Given the description of an element on the screen output the (x, y) to click on. 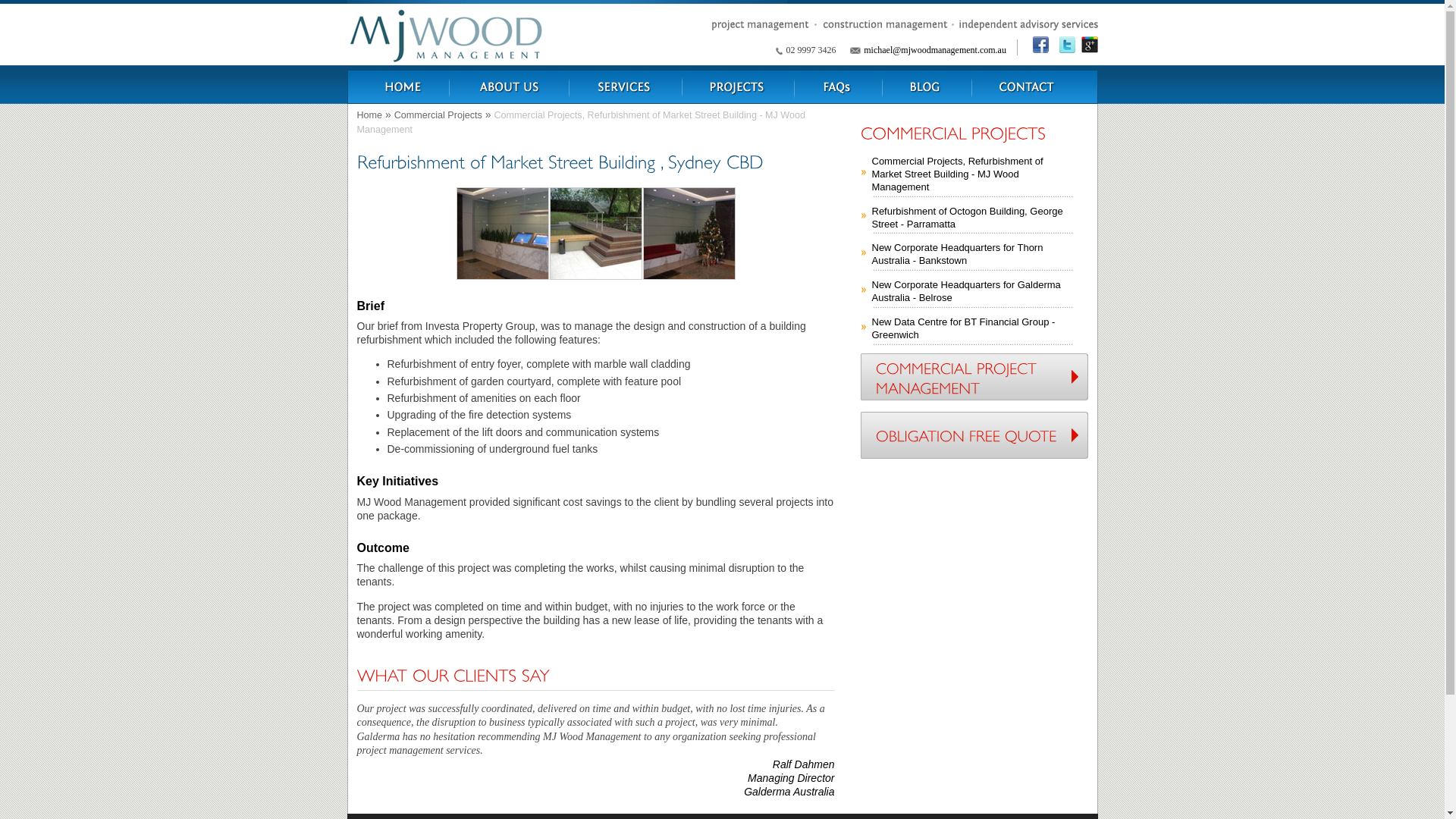
Commercial Projects Element type: text (438, 114)
Services Element type: hover (624, 82)
google plus Element type: hover (1089, 49)
Independent Project Management Element type: hover (398, 82)
Commercial Project Management Element type: hover (973, 376)
New Corporate Headquarters for Thorn Australia - Bankstown Element type: text (972, 252)
michael@mjwoodmanagement.com.au Element type: text (934, 49)
Projects Element type: hover (738, 82)
Contact Element type: hover (1033, 82)
Building Element type: hover (508, 82)
Faqs Element type: hover (838, 82)
Home Element type: text (369, 114)
Obligation Free Quote Element type: hover (973, 434)
Blog Element type: hover (926, 82)
New Data Centre for BT Financial Group - Greenwich Element type: text (972, 326)
Facebook Element type: hover (1036, 47)
twitter Element type: hover (1067, 49)
New Corporate Headquarters for Galderma Australia - Belrose Element type: text (972, 289)
